Given the description of an element on the screen output the (x, y) to click on. 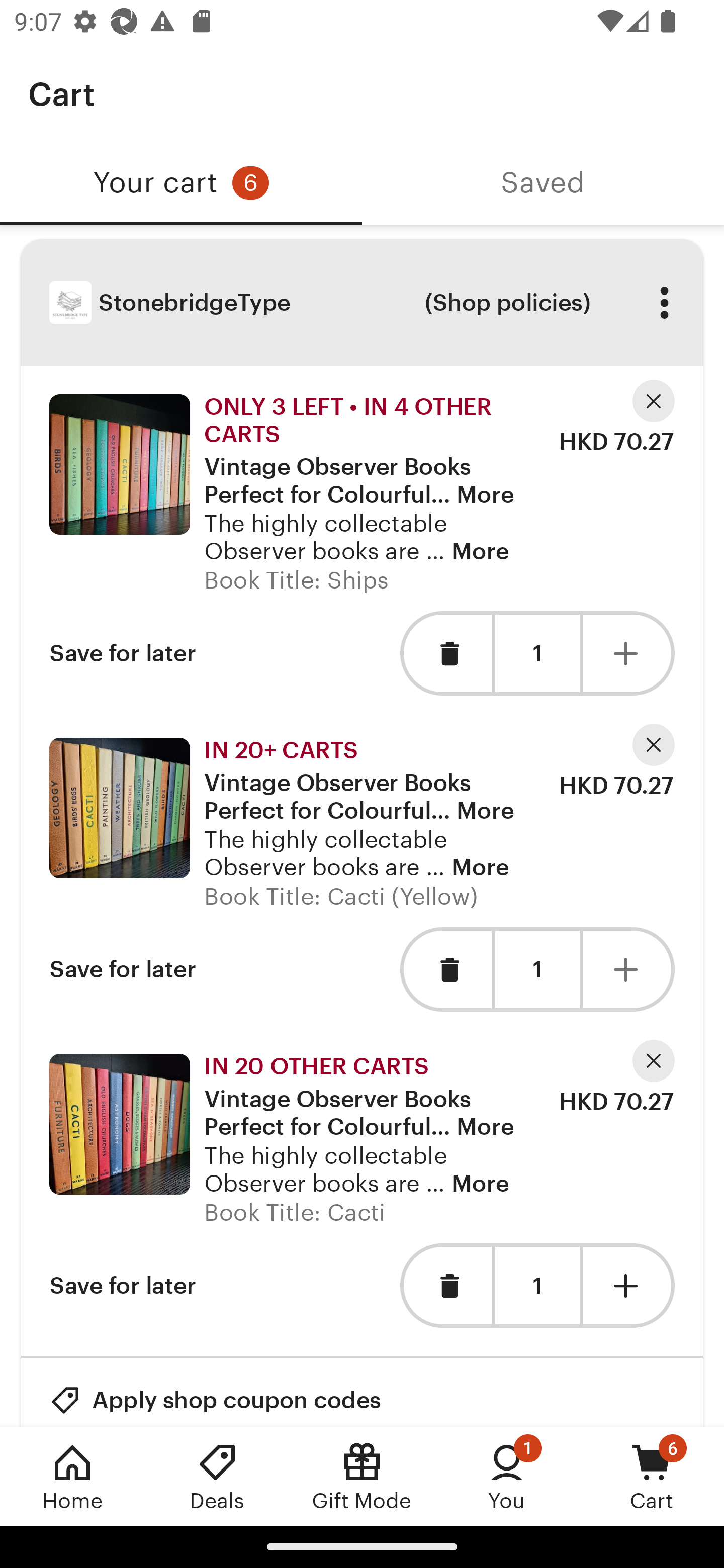
Saved, tab 2 of 2 Saved (543, 183)
StonebridgeType (Shop policies) More options (361, 302)
(Shop policies) (507, 302)
More options (663, 302)
Save for later (122, 653)
Remove item from cart (445, 653)
Add one unit to cart (628, 653)
1 (537, 653)
Save for later (122, 968)
Remove item from cart (445, 968)
Add one unit to cart (628, 968)
1 (537, 970)
Save for later (122, 1285)
Remove item from cart (445, 1285)
Add one unit to cart (628, 1285)
1 (537, 1285)
Apply shop coupon codes (215, 1391)
Home (72, 1475)
Deals (216, 1475)
Gift Mode (361, 1475)
You, 1 new notification You (506, 1475)
